Given the description of an element on the screen output the (x, y) to click on. 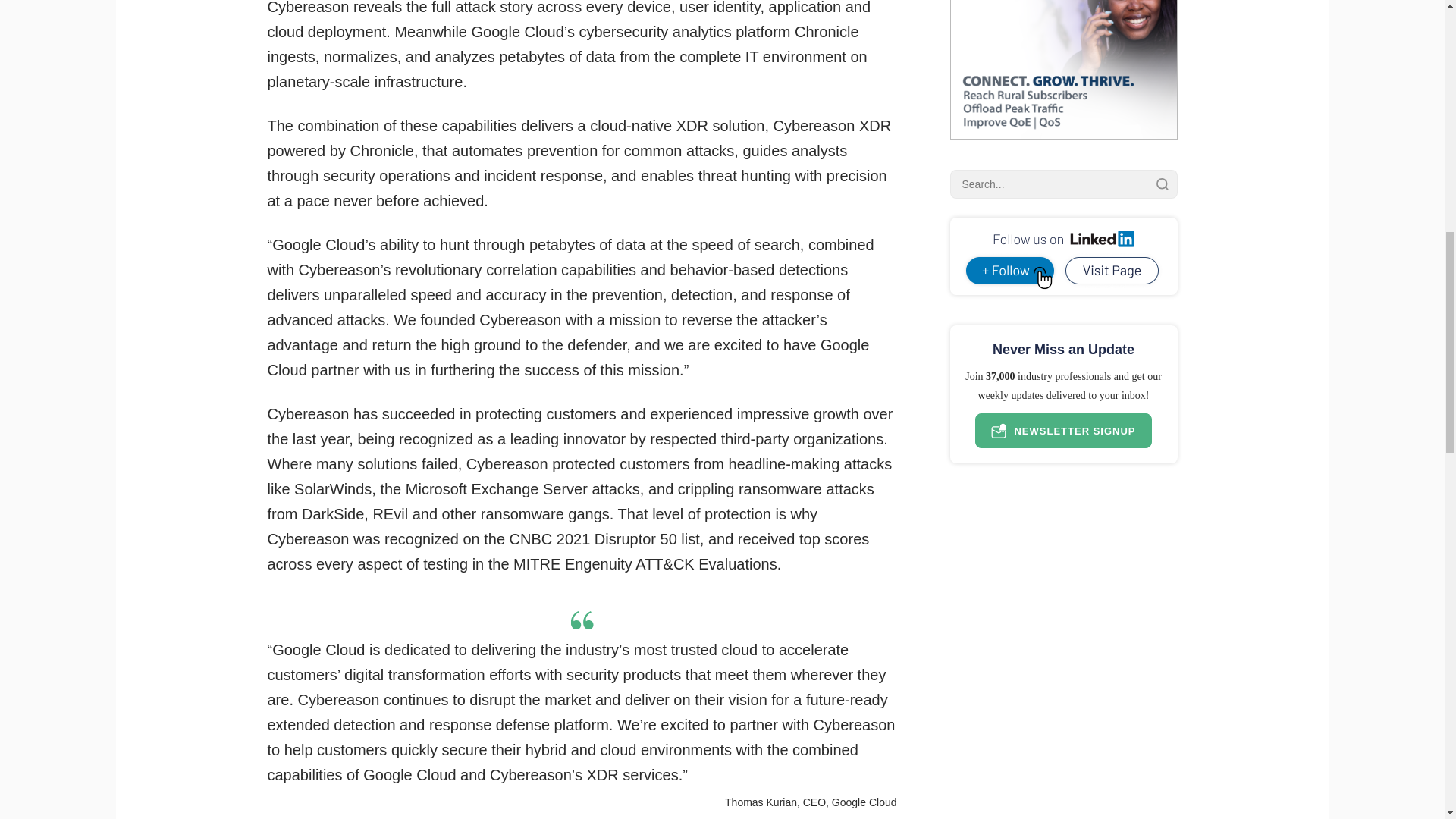
NEWSLETTER SIGNUP (1063, 430)
Search (1162, 184)
Search (1162, 184)
